Given the description of an element on the screen output the (x, y) to click on. 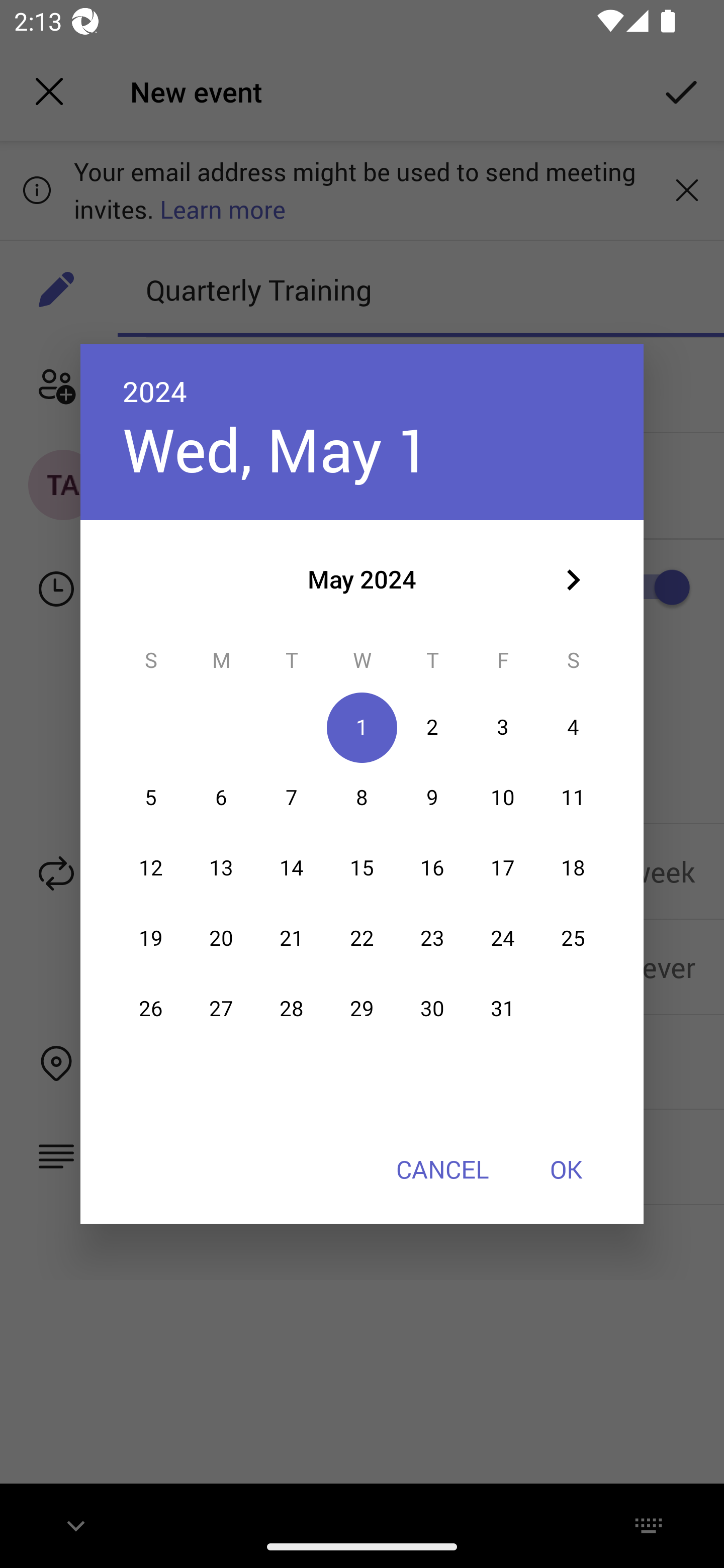
2024 (154, 391)
Wed, May 1 (276, 449)
Next month (572, 579)
1 01 May 2024 (361, 728)
2 02 May 2024 (432, 728)
3 03 May 2024 (502, 728)
4 04 May 2024 (572, 728)
5 05 May 2024 (150, 797)
6 06 May 2024 (221, 797)
7 07 May 2024 (291, 797)
8 08 May 2024 (361, 797)
9 09 May 2024 (432, 797)
10 10 May 2024 (502, 797)
11 11 May 2024 (572, 797)
12 12 May 2024 (150, 867)
13 13 May 2024 (221, 867)
14 14 May 2024 (291, 867)
15 15 May 2024 (361, 867)
16 16 May 2024 (432, 867)
17 17 May 2024 (502, 867)
18 18 May 2024 (572, 867)
19 19 May 2024 (150, 938)
20 20 May 2024 (221, 938)
21 21 May 2024 (291, 938)
22 22 May 2024 (361, 938)
23 23 May 2024 (432, 938)
24 24 May 2024 (502, 938)
25 25 May 2024 (572, 938)
26 26 May 2024 (150, 1008)
27 27 May 2024 (221, 1008)
28 28 May 2024 (291, 1008)
29 29 May 2024 (361, 1008)
30 30 May 2024 (432, 1008)
31 31 May 2024 (502, 1008)
CANCEL (442, 1168)
OK (565, 1168)
